Given the description of an element on the screen output the (x, y) to click on. 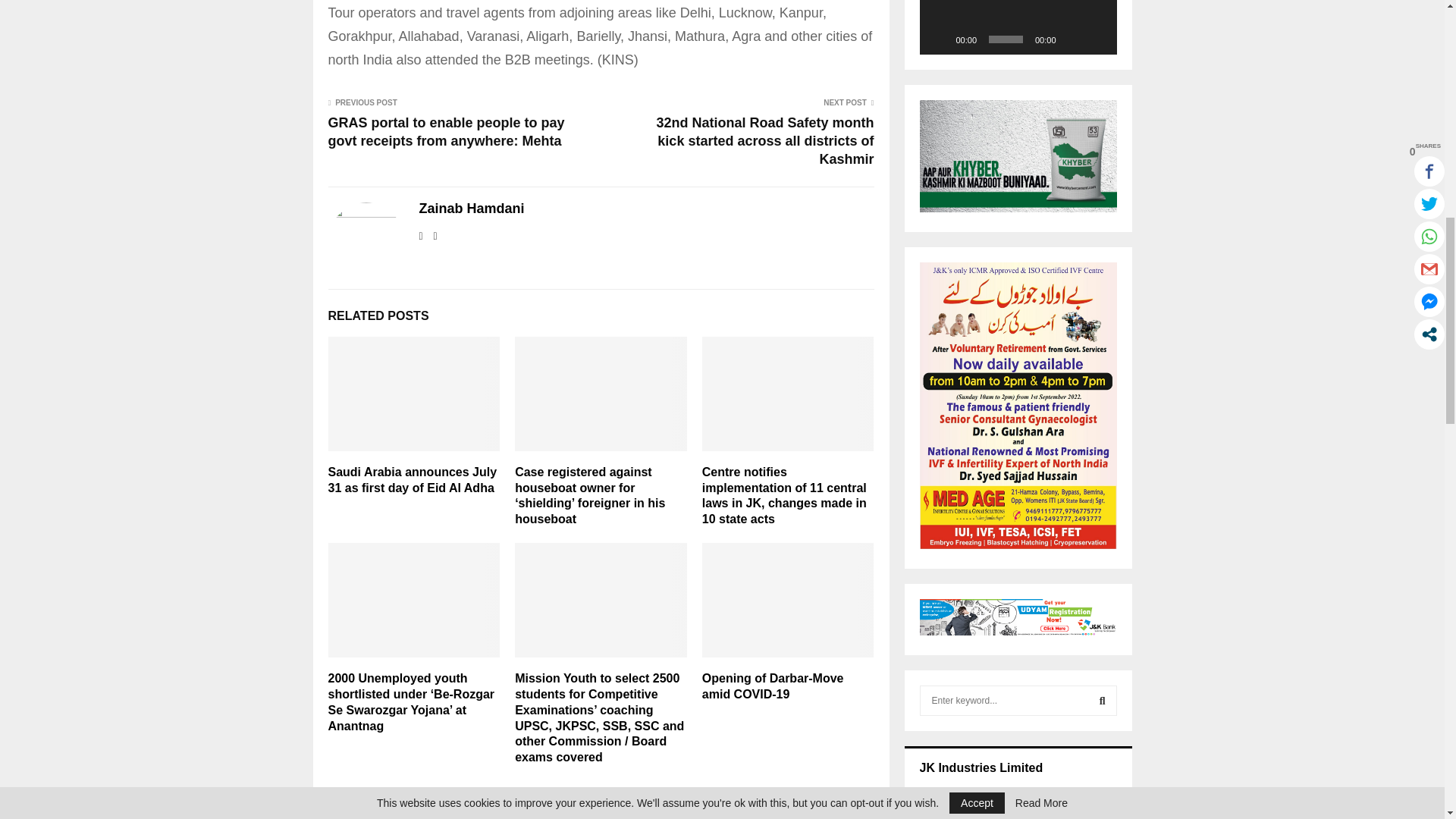
Play (938, 38)
Posts by Zainab Hamdani (471, 208)
Fullscreen (1096, 38)
Mute (1072, 38)
